Given the description of an element on the screen output the (x, y) to click on. 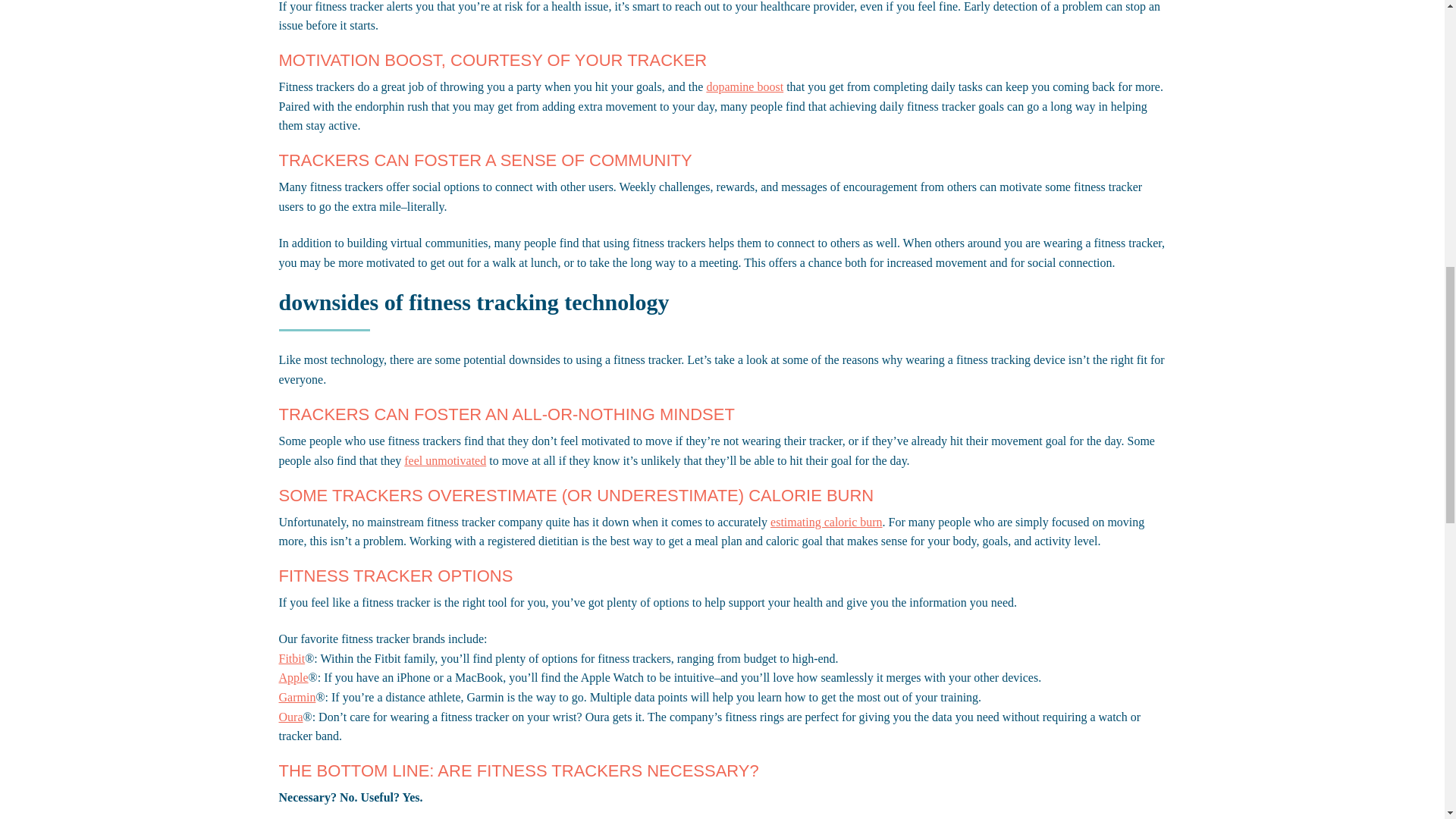
Fitbit (292, 658)
Oura (290, 716)
feel unmotivated (445, 460)
Garmin (297, 697)
Apple (293, 676)
estimating caloric burn (826, 521)
dopamine boost (744, 86)
